Given the description of an element on the screen output the (x, y) to click on. 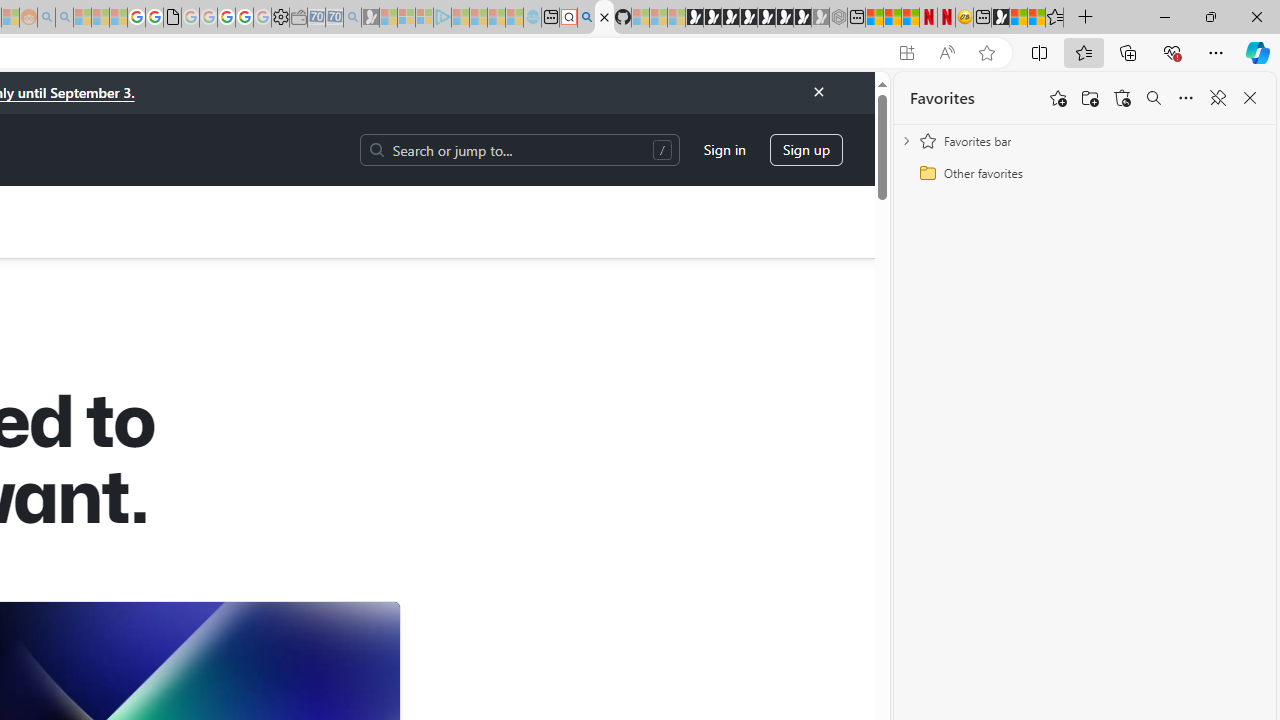
Unpin favorites (1217, 98)
Close favorites (1250, 98)
